Given the description of an element on the screen output the (x, y) to click on. 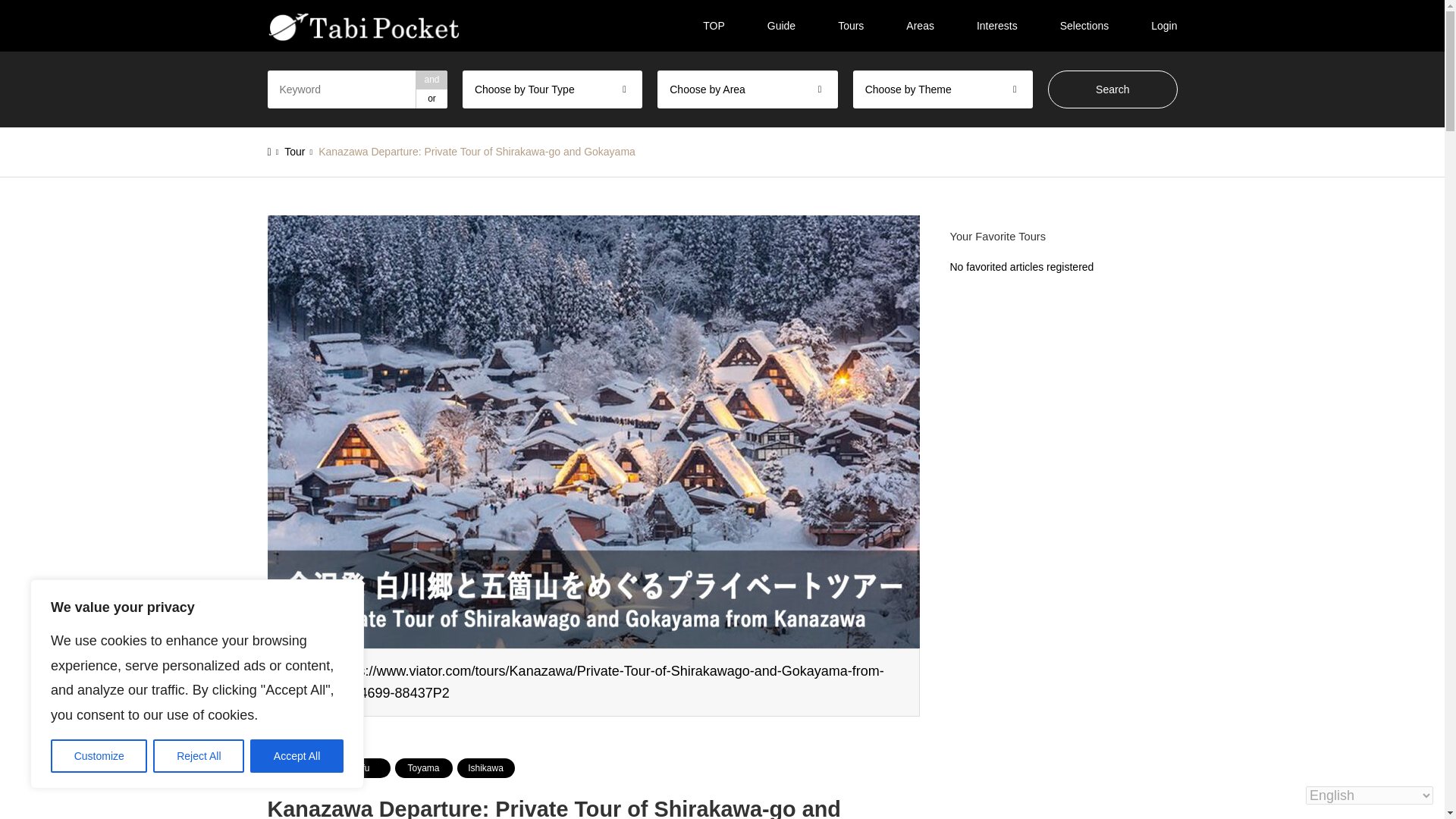
Gifu (361, 768)
Toyama (423, 768)
Accept All (296, 756)
Ishikawa (486, 768)
Search (1112, 89)
TabiPocket (363, 26)
Areas (920, 25)
Guide (780, 25)
Customize (98, 756)
TOP (713, 25)
Interests (997, 25)
Tours (850, 25)
TabiPocket (363, 25)
Paid tours (296, 768)
Reject All (198, 756)
